Given the description of an element on the screen output the (x, y) to click on. 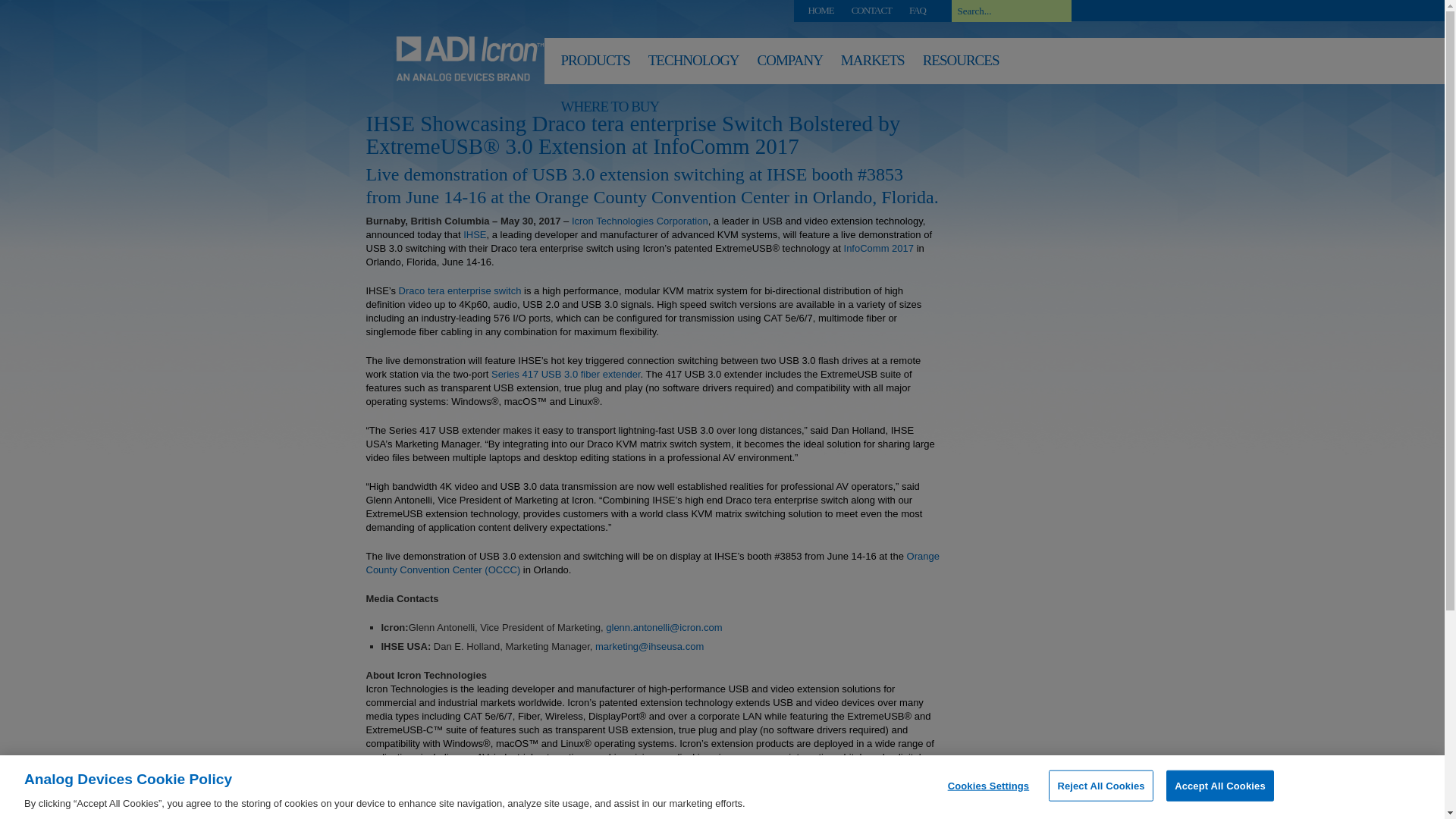
IHSE (474, 234)
TECHNOLOGY (693, 62)
RESOURCES (961, 62)
WHERE TO BUY (609, 108)
HOME (821, 9)
MARKETS (872, 62)
Icron Technologies Corporation (639, 220)
FAQ (917, 9)
Search... (1010, 11)
PRODUCTS (595, 62)
CONTACT (871, 9)
COMPANY (789, 62)
